Given the description of an element on the screen output the (x, y) to click on. 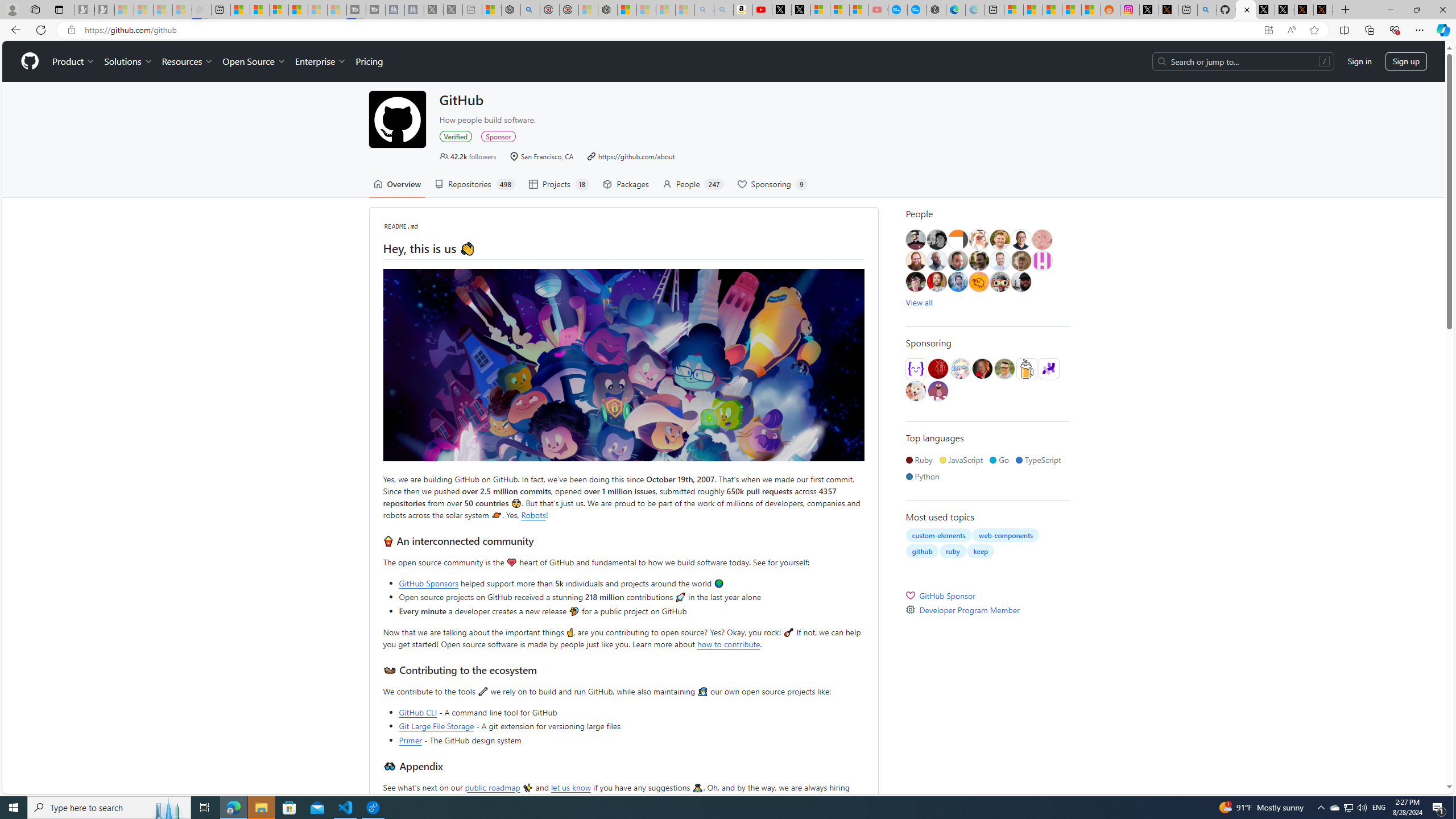
@nickh (1020, 260)
@jonmagic (936, 239)
README.md (400, 226)
Verified (456, 136)
@rubiojr (1000, 281)
Enterprise (319, 60)
@zx2c4 (937, 390)
Homepage (29, 61)
Solutions (128, 60)
